Given the description of an element on the screen output the (x, y) to click on. 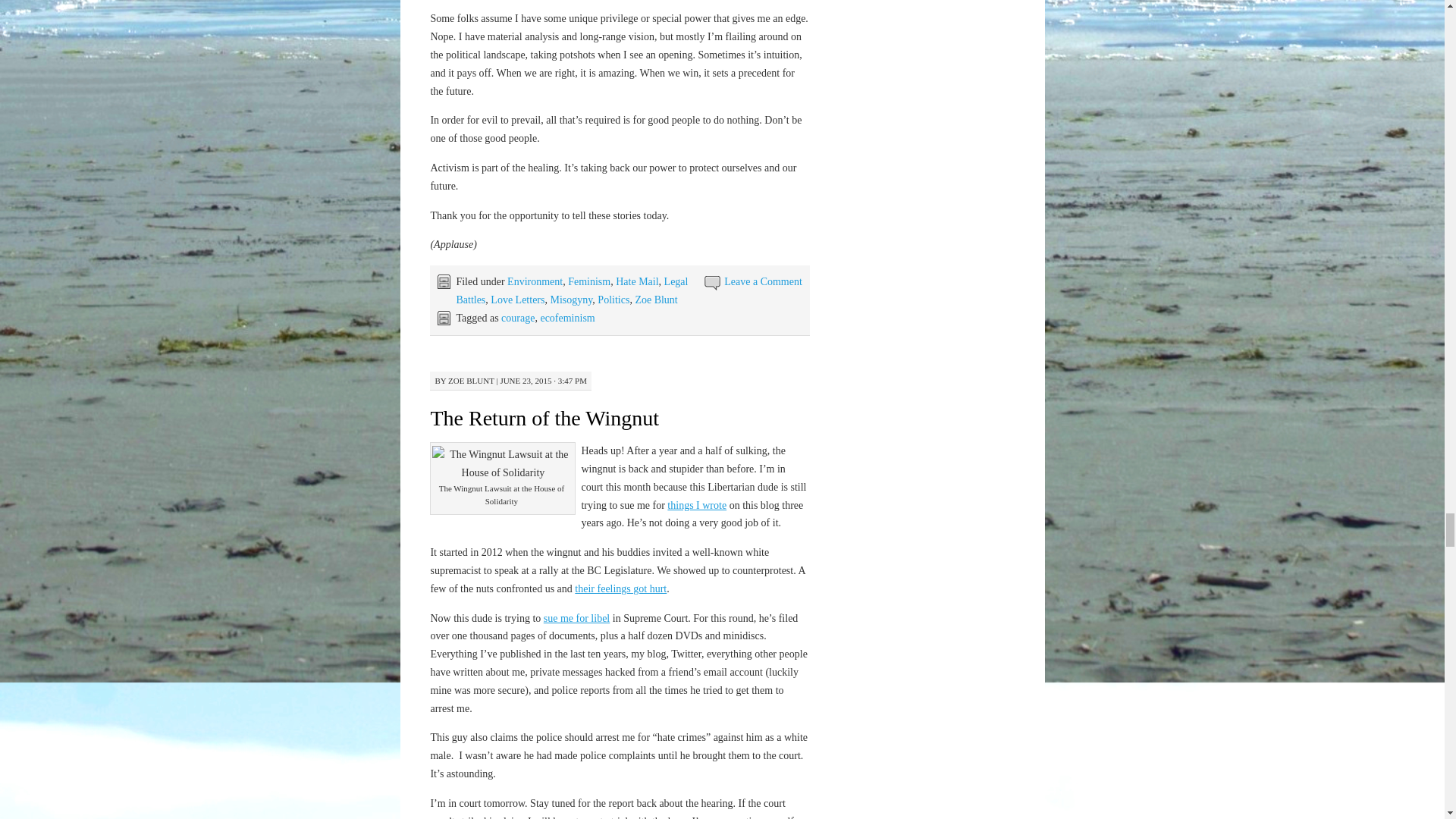
The Wingnut Lawsuit (576, 618)
Zoe Blunt - Hate Mail from Haters  (620, 588)
View all posts by Zoe Blunt (471, 379)
The Wingnut Lawsuit (696, 505)
